Given the description of an element on the screen output the (x, y) to click on. 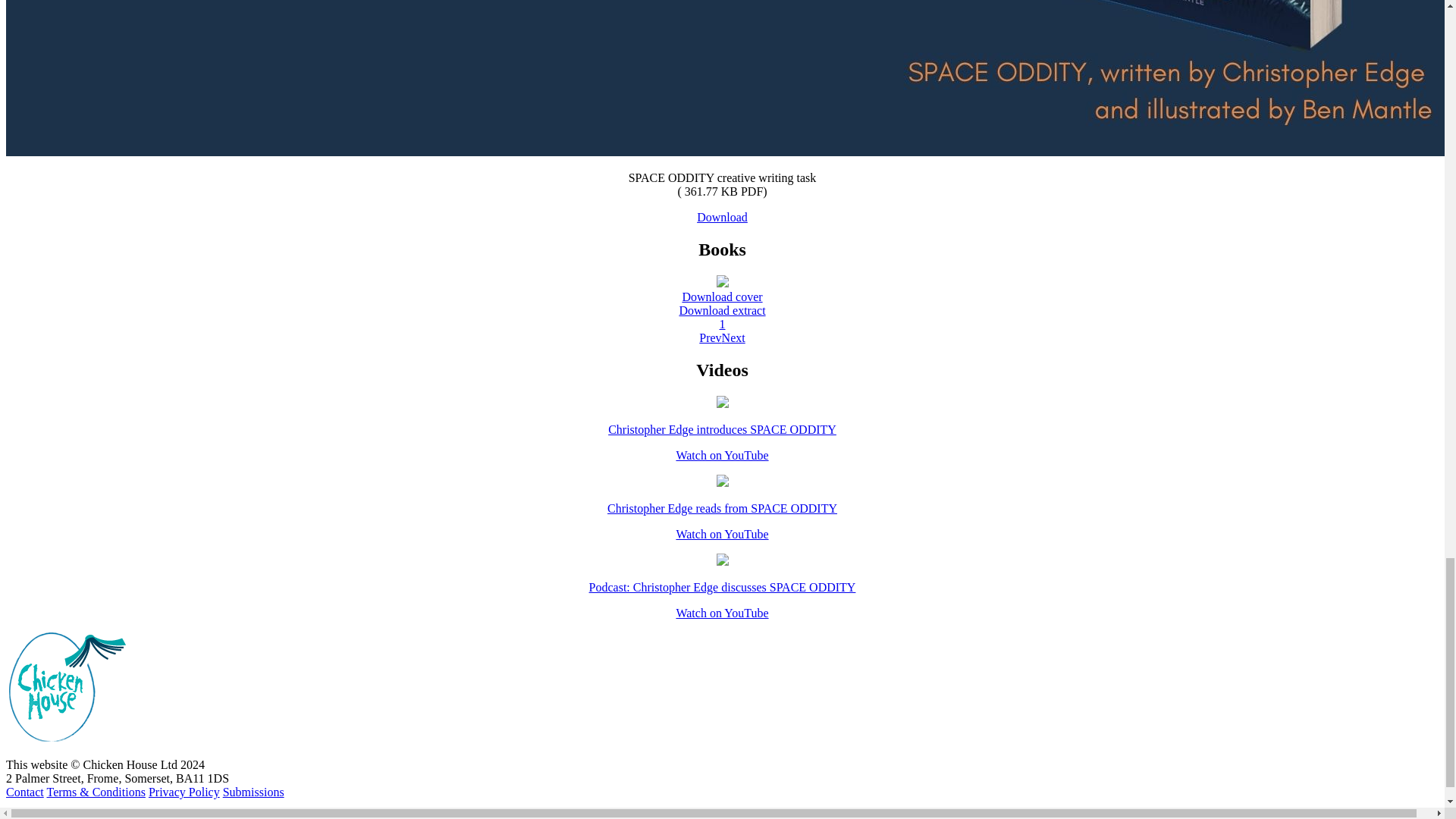
Next (733, 337)
Christopher Edge introduces SPACE ODDITY (721, 429)
Christopher Edge reads from SPACE ODDITY (722, 508)
Download cover (721, 296)
Watch on YouTube (721, 454)
Download extract (721, 309)
Prev (709, 337)
Download (722, 216)
